Given the description of an element on the screen output the (x, y) to click on. 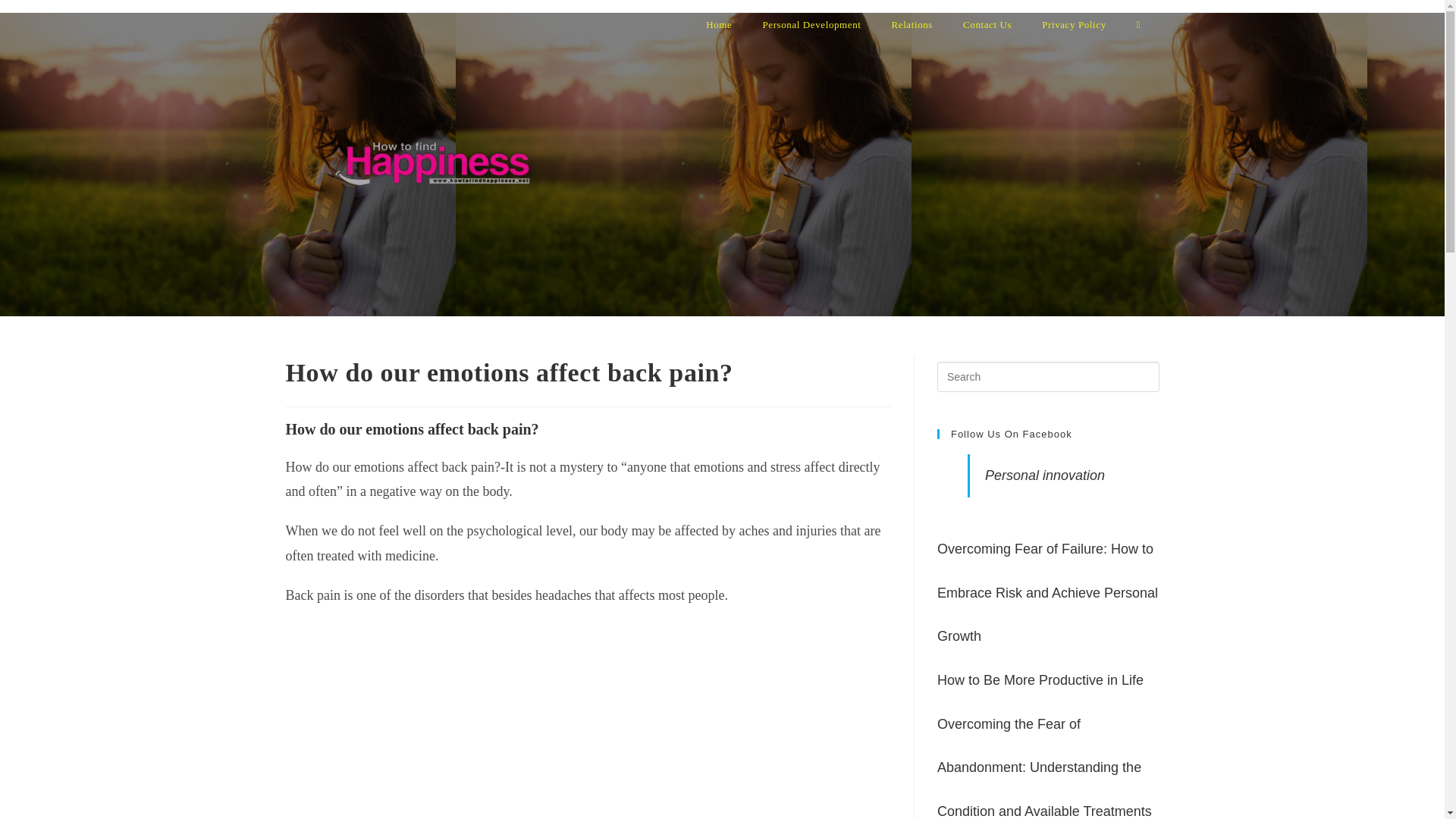
Personal innovation (1045, 475)
Toggle Website Search (1138, 24)
Contact Us (987, 24)
How to Be More Productive in Life (1039, 679)
Personal Development (811, 24)
Privacy Policy (1074, 24)
Home (718, 24)
